Given the description of an element on the screen output the (x, y) to click on. 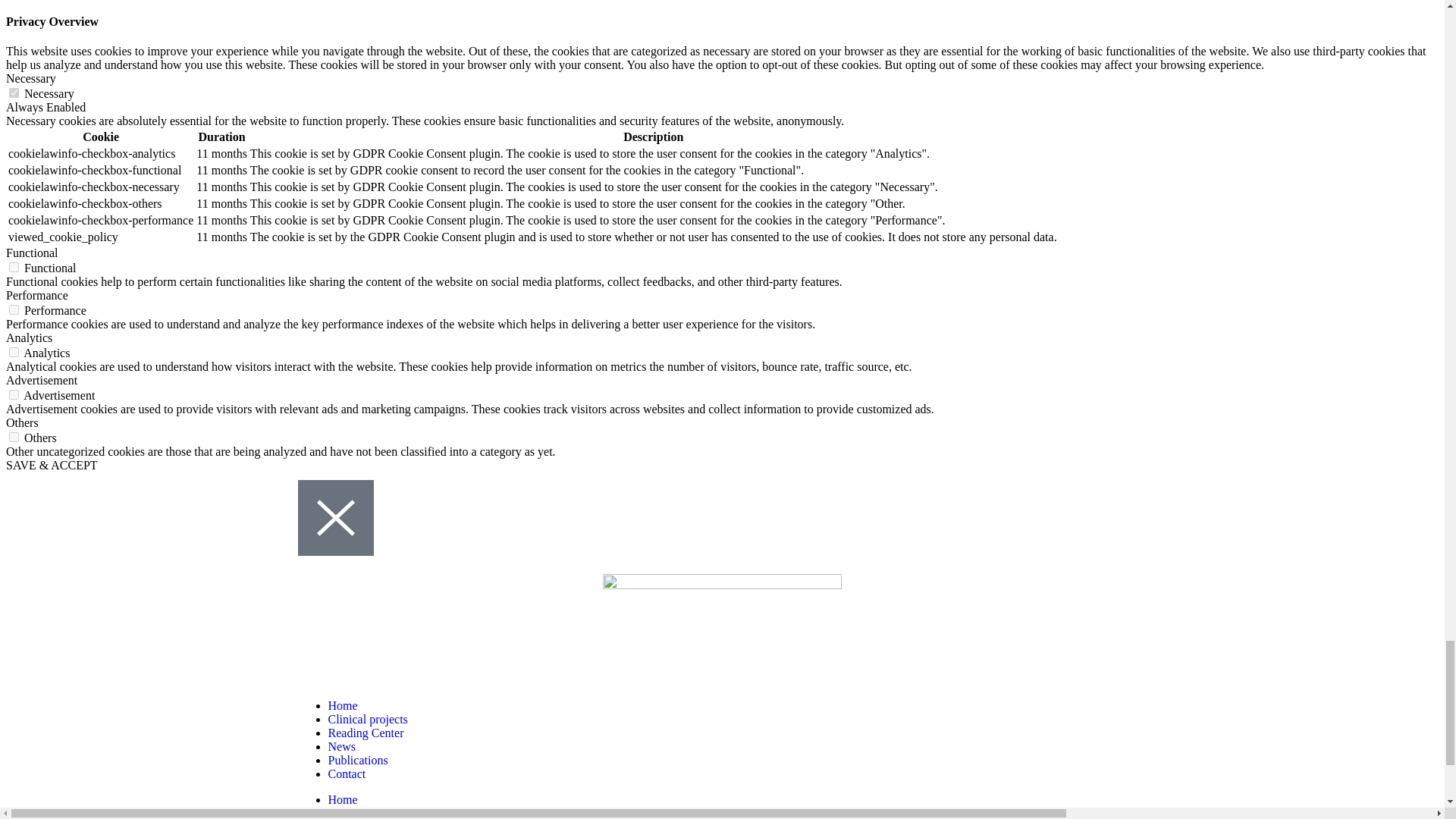
on (13, 437)
on (13, 394)
on (13, 92)
on (13, 352)
on (13, 266)
on (13, 309)
